Given the description of an element on the screen output the (x, y) to click on. 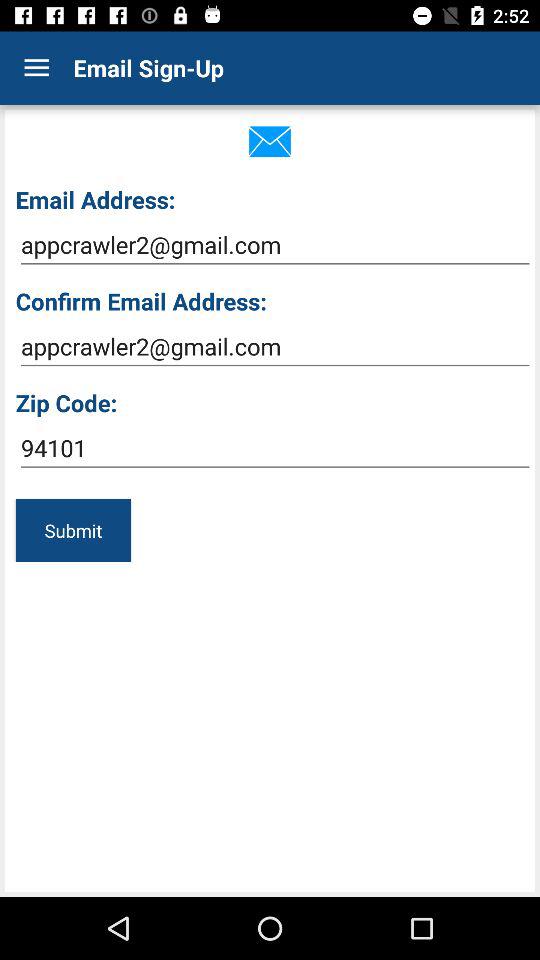
click the icon below the 94101 (73, 530)
